Given the description of an element on the screen output the (x, y) to click on. 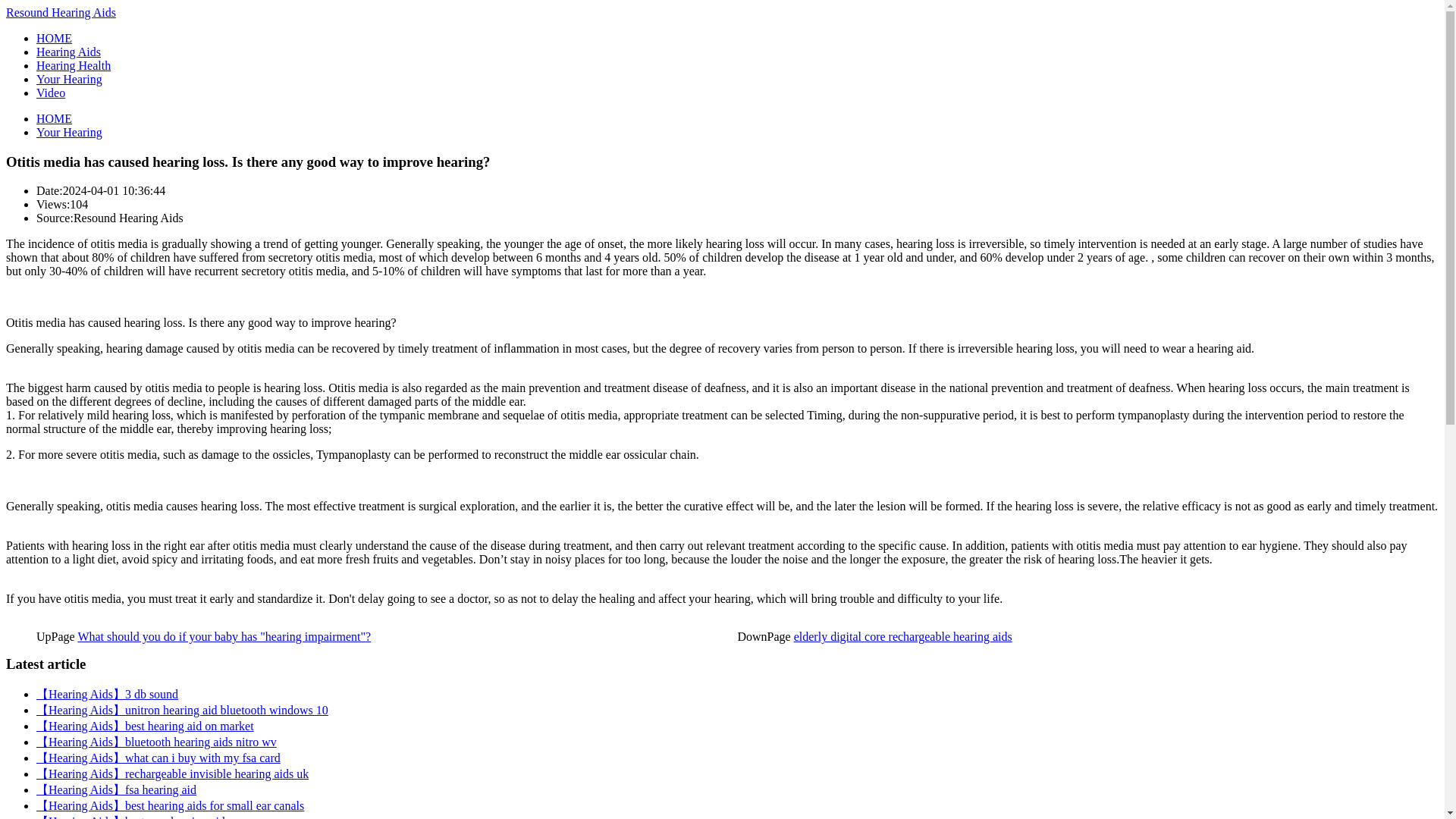
Resound Hearing Aids (60, 11)
HOME (53, 118)
best hearing aid on market (144, 725)
elderly digital core rechargeable hearing aids (902, 635)
Your Hearing (68, 132)
Video (50, 92)
best new hearing aid (130, 816)
Your Hearing (68, 132)
unitron hearing aid bluetooth windows 10 (182, 709)
Hearing Aids (68, 51)
3 db sound (106, 694)
Resound Hearing Aids (53, 118)
bluetooth hearing aids nitro wv (156, 741)
best hearing aids for small ear canals (170, 805)
Home (53, 38)
